Given the description of an element on the screen output the (x, y) to click on. 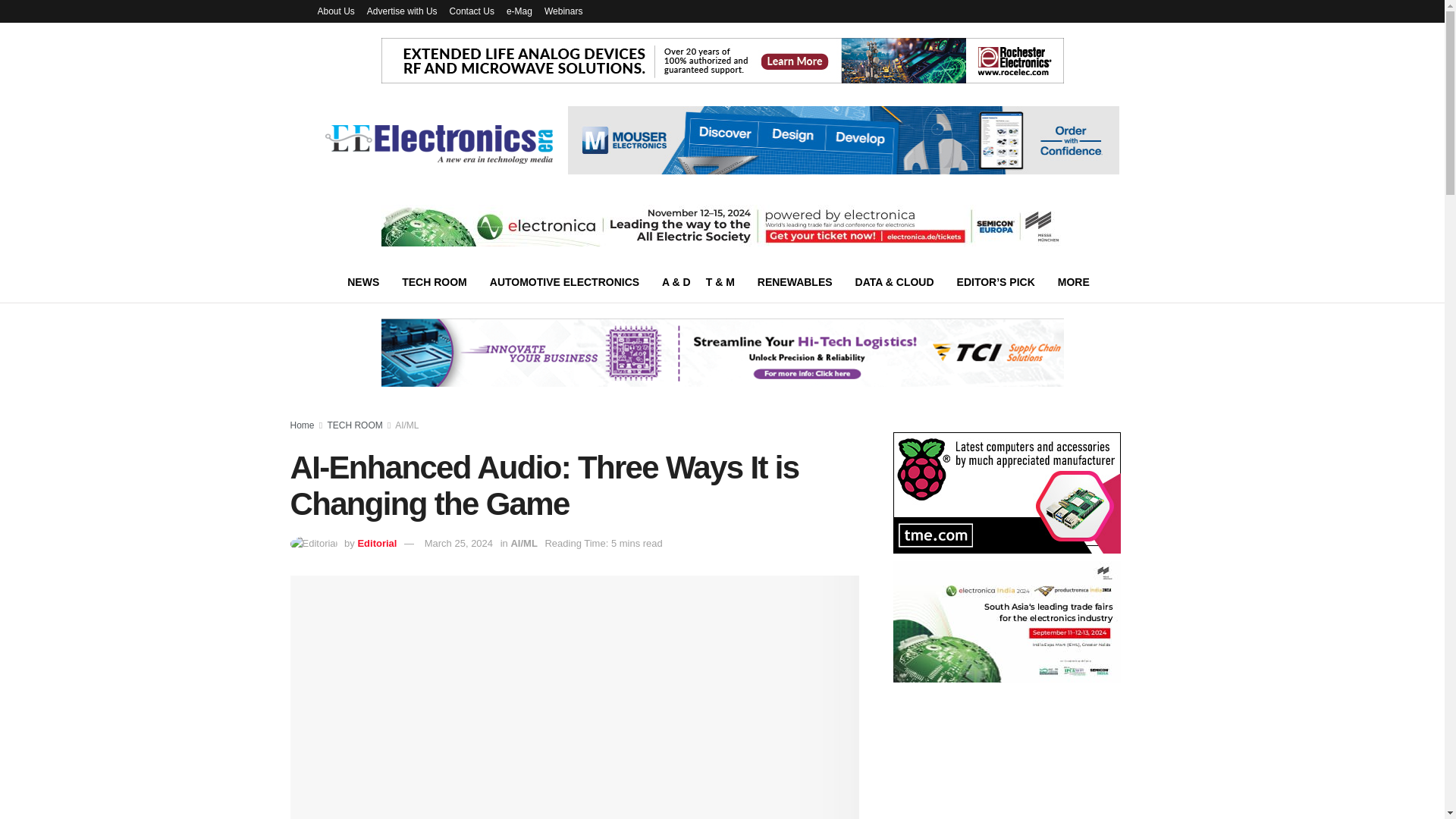
About Us (335, 11)
Webinars (563, 11)
Contact Us (472, 11)
Advertise with Us (402, 11)
e-Mag (519, 11)
